Given the description of an element on the screen output the (x, y) to click on. 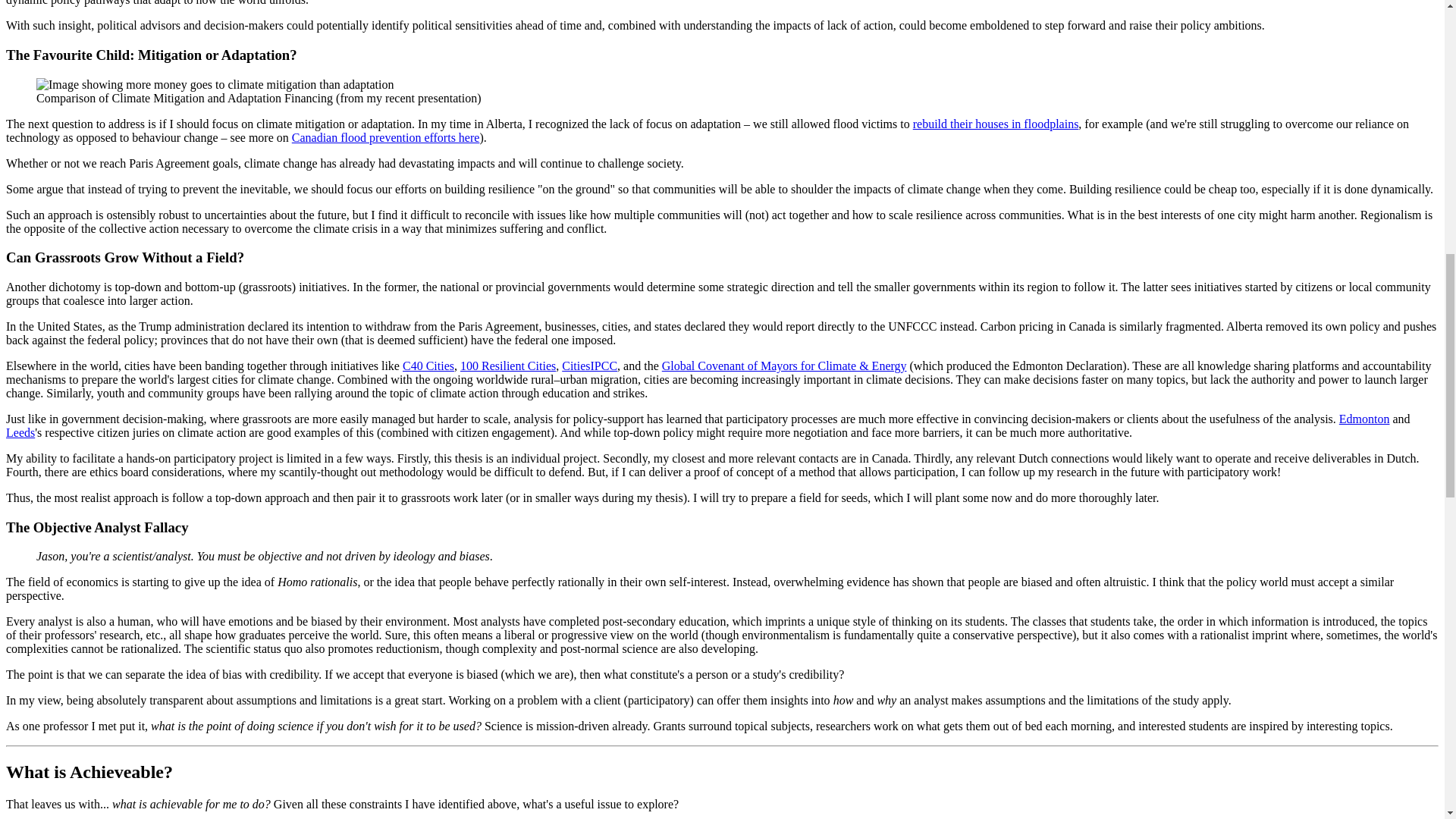
C40 Cities (428, 365)
100 Resilient Cities (508, 365)
rebuild their houses in floodplains (995, 123)
Edmonton (1364, 418)
Canadian flood prevention efforts here (386, 136)
CitiesIPCC (589, 365)
Leeds (19, 431)
